Given the description of an element on the screen output the (x, y) to click on. 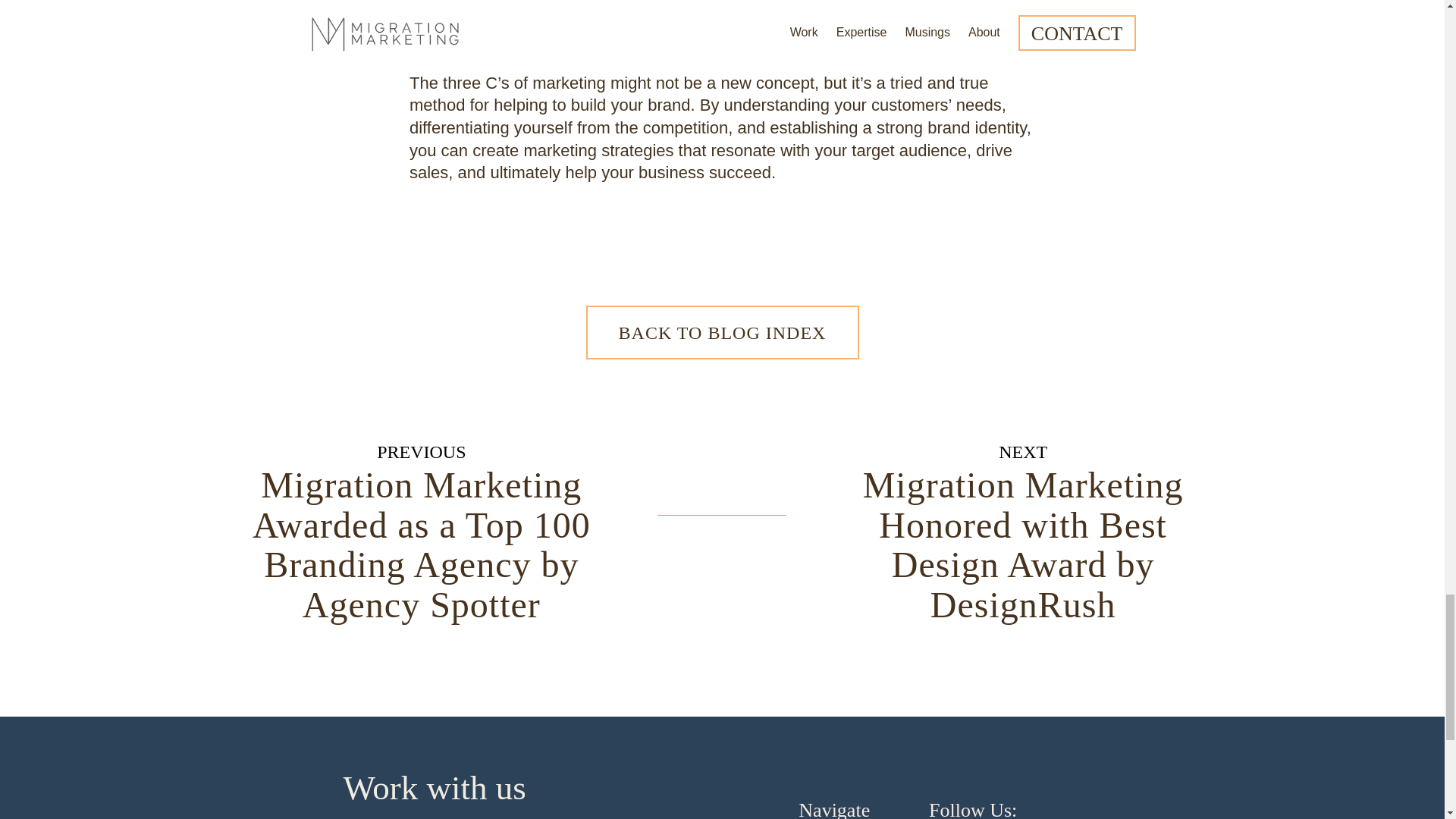
BACK TO BLOG INDEX (722, 332)
